Given the description of an element on the screen output the (x, y) to click on. 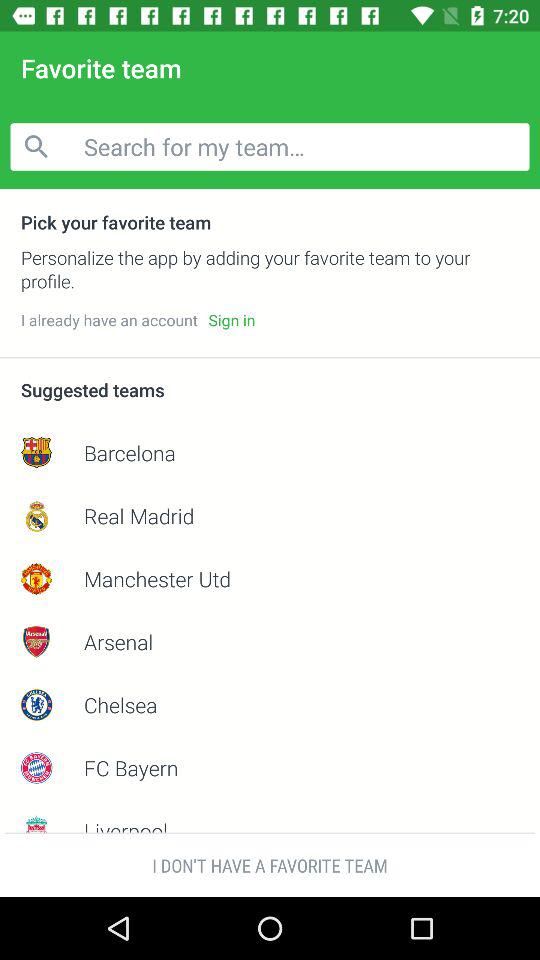
click the item below the personalize the app item (231, 319)
